Given the description of an element on the screen output the (x, y) to click on. 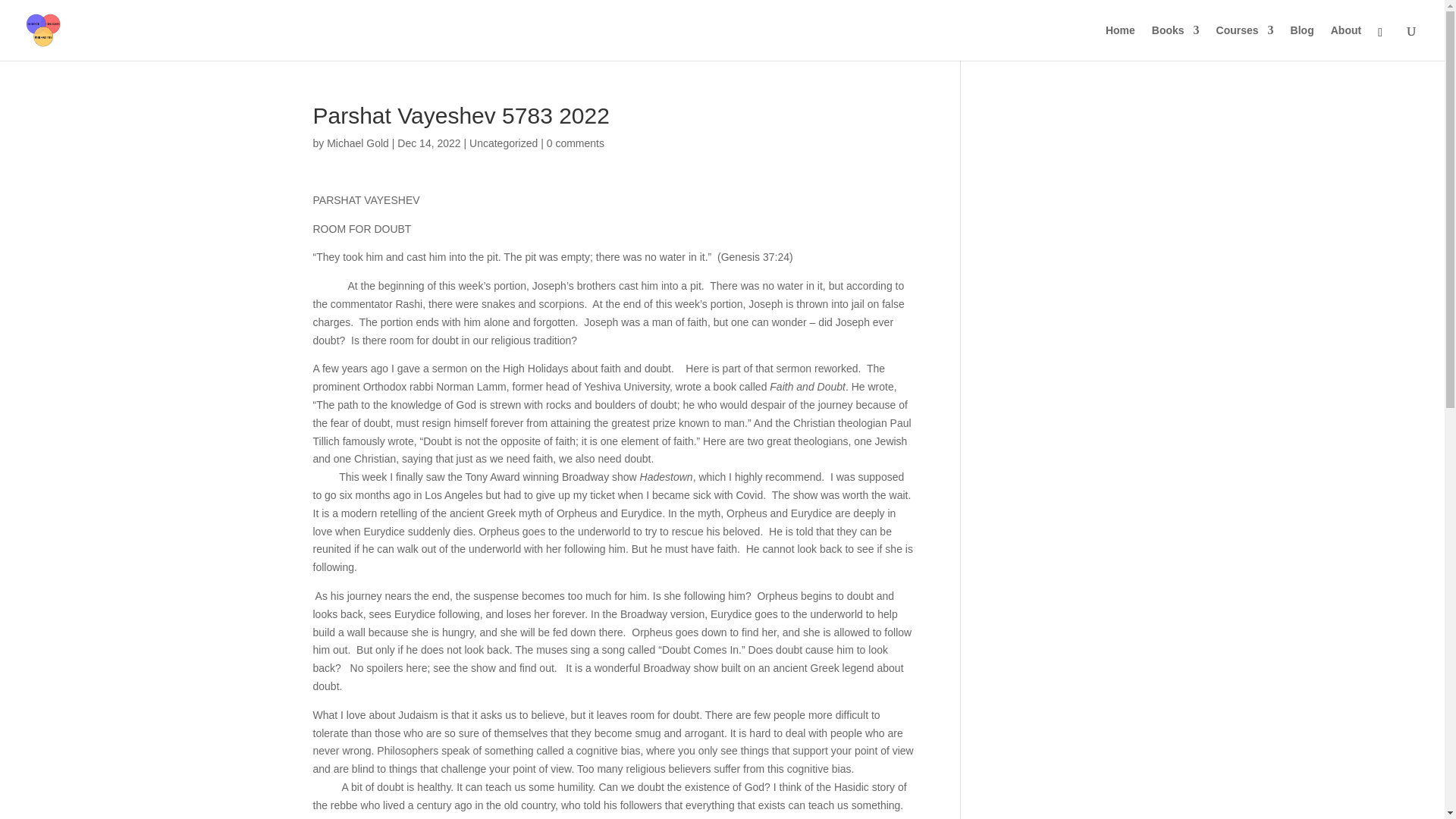
Michael Gold (357, 143)
Uncategorized (502, 143)
Books (1175, 42)
Posts by Michael Gold (357, 143)
0 comments (575, 143)
Courses (1244, 42)
